Given the description of an element on the screen output the (x, y) to click on. 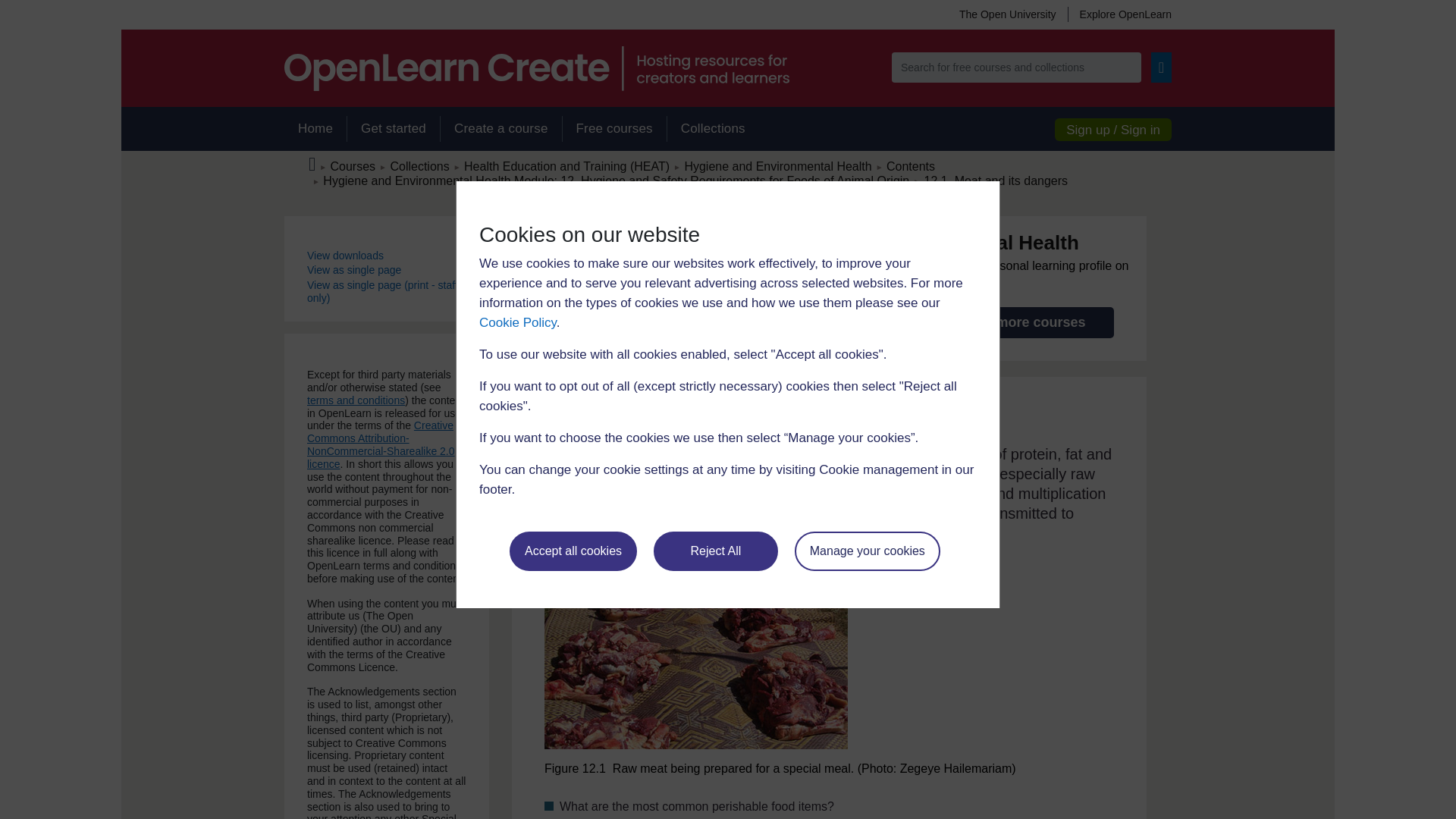
Get started (392, 128)
The Open University (1007, 14)
Collections (712, 128)
Free courses (614, 128)
Home (314, 128)
Create a course (500, 128)
Reject All (715, 550)
Explore OpenLearn (1119, 14)
The Open University (1007, 14)
OpenLearn Create (536, 67)
Accept all cookies (573, 550)
Manage your cookies (867, 550)
Cookie Policy (517, 322)
SC Web Editor (615, 180)
Explore OpenLearn (1119, 14)
